Given the description of an element on the screen output the (x, y) to click on. 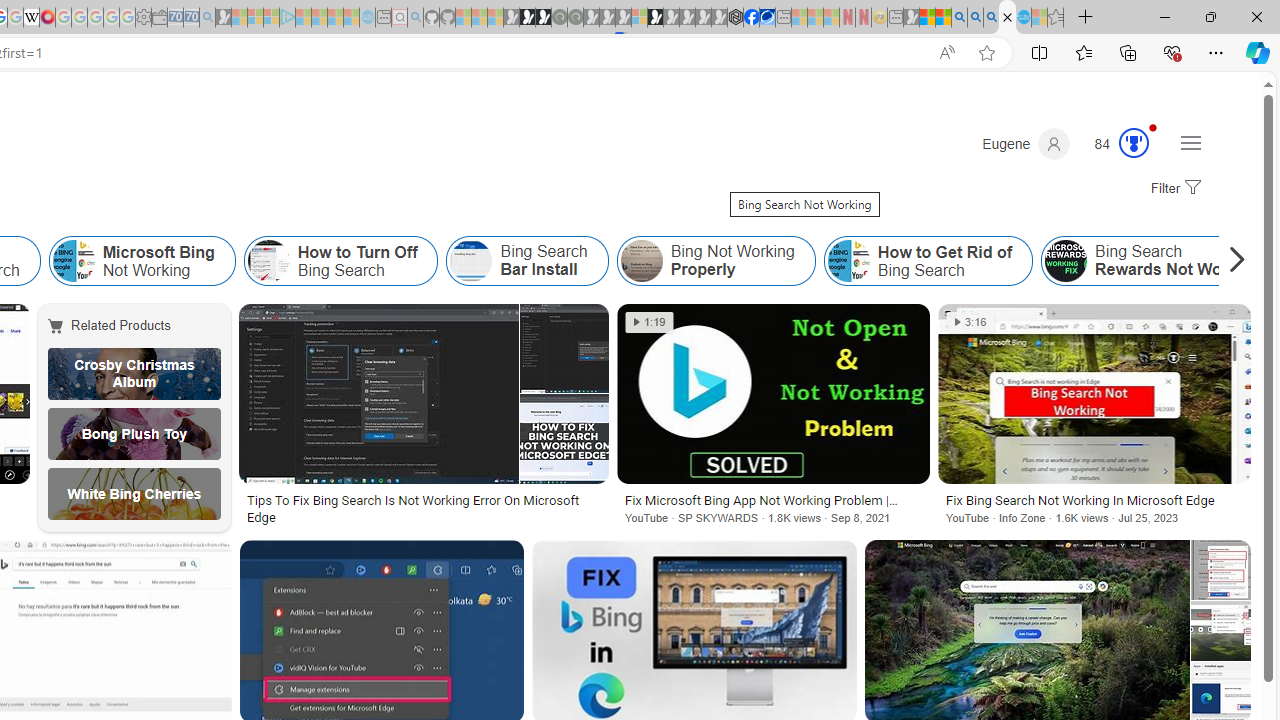
AutomationID: rh_meter (1133, 142)
Bing Search Bar Install (527, 260)
Sign in to your account - Sleeping (639, 17)
Microsoft Bing Not Working (141, 260)
